Given the description of an element on the screen output the (x, y) to click on. 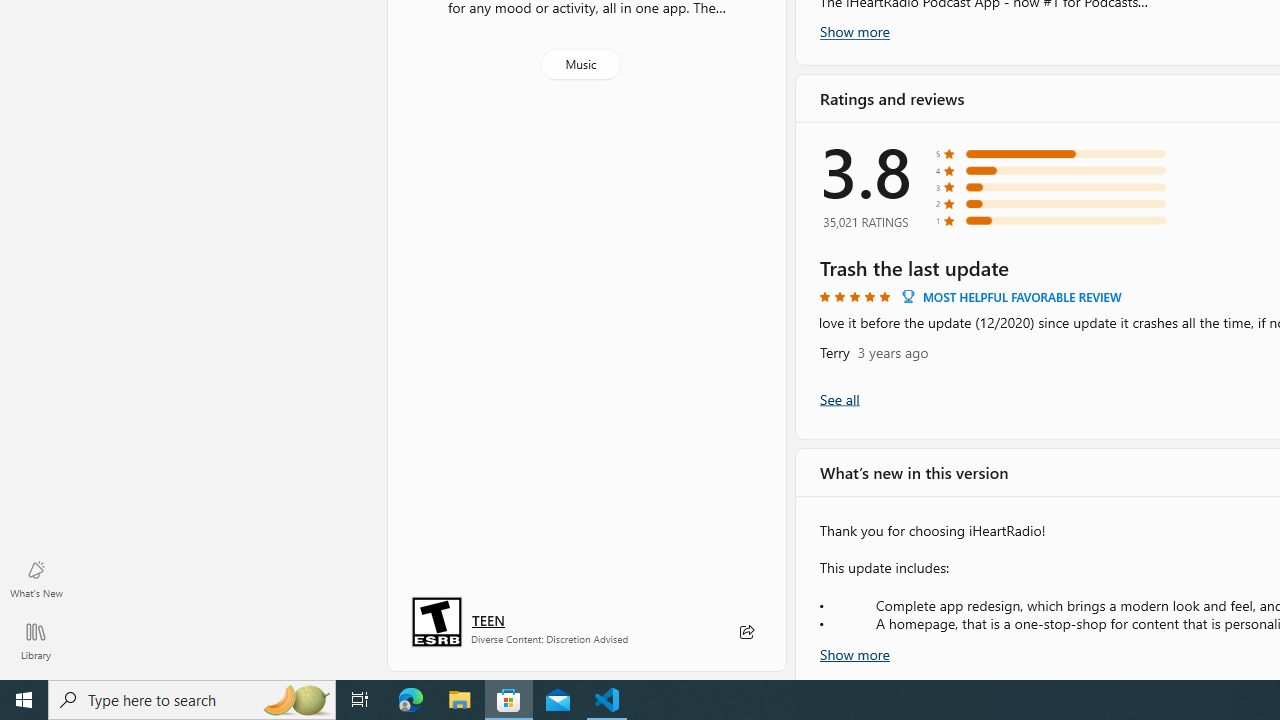
Share (746, 632)
Show all ratings and reviews (838, 398)
Show more (854, 652)
What's New (35, 578)
Music (580, 63)
Library (35, 640)
Age rating: TEEN. Click for more information. (488, 619)
